Given the description of an element on the screen output the (x, y) to click on. 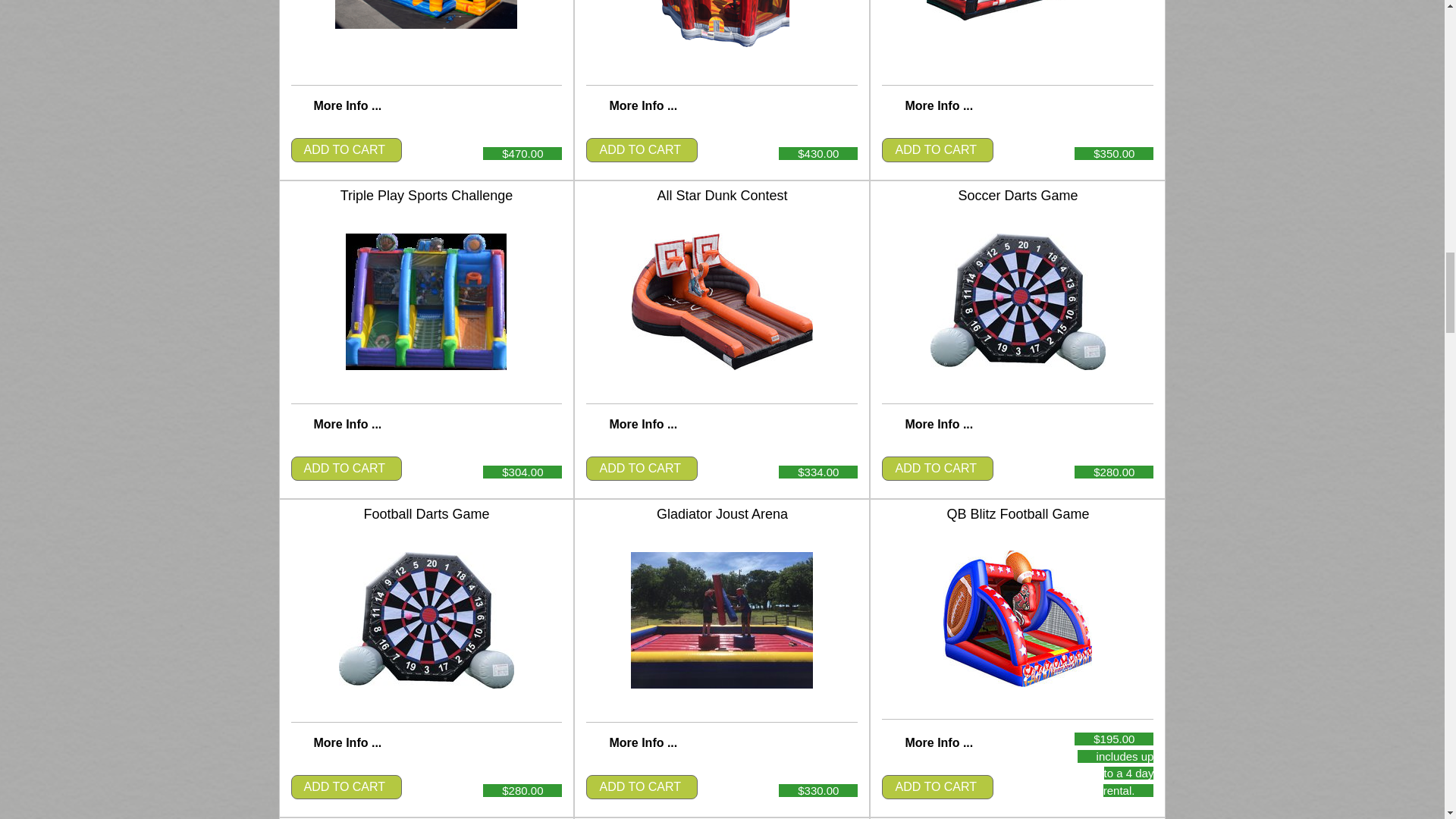
Triple Play Sports Challenge (426, 301)
More Info ... (642, 105)
More Info ... (938, 105)
Human Foosball Sports Interactive (425, 14)
4 Player Bungee Challenge (1017, 10)
More Info ... (347, 105)
Lava Wrecking Ball Game (721, 25)
